Given the description of an element on the screen output the (x, y) to click on. 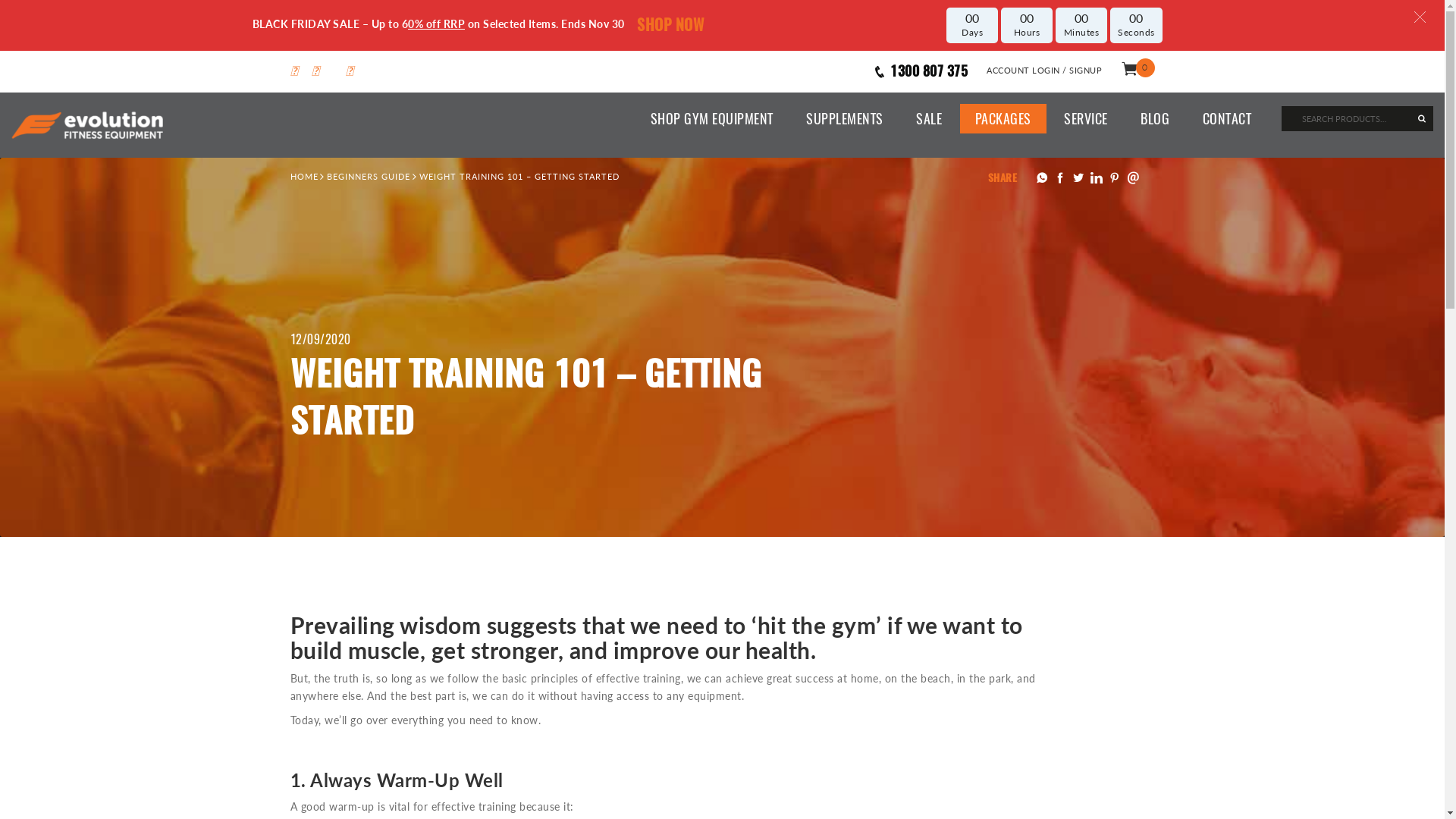
0 Element type: text (1137, 71)
Search Element type: text (1304, 117)
1300 807 375 Element type: text (919, 70)
BEGINNERS GUIDE Element type: text (368, 176)
SHOP GYM EQUIPMENT Element type: text (711, 118)
BLOG Element type: text (1154, 118)
Share by Email Element type: hover (1132, 177)
SHOP NOW Element type: text (670, 24)
PACKAGES Element type: text (1003, 118)
HOME Element type: text (303, 176)
SALE Element type: text (928, 118)
ACCOUNT LOGIN / SIGNUP Element type: text (1043, 70)
SERVICE Element type: text (1085, 118)
CONTACT Element type: text (1227, 118)
SUPPLEMENTS Element type: text (844, 118)
